Given the description of an element on the screen output the (x, y) to click on. 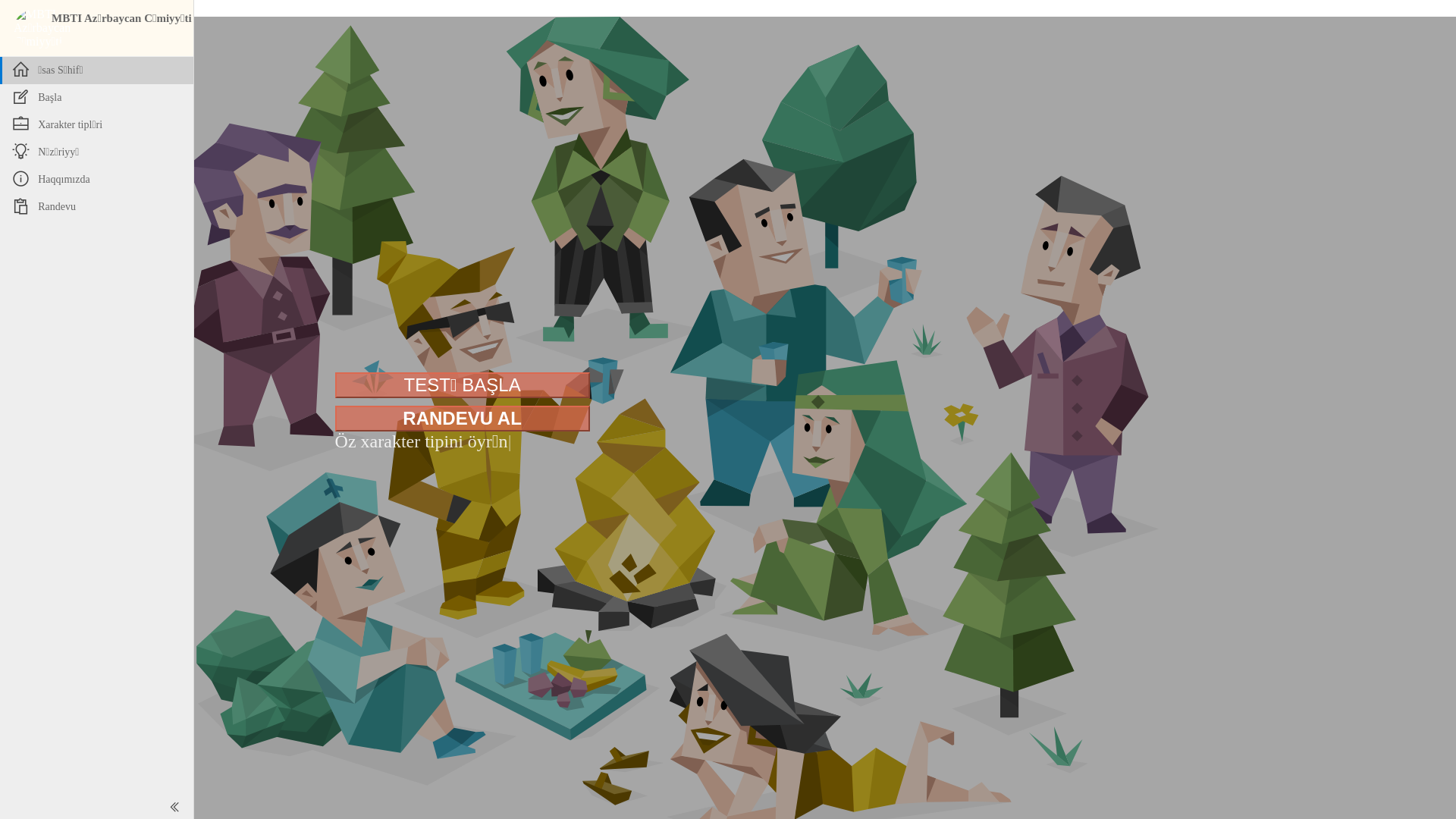
RANDEVU AL Element type: text (462, 420)
RANDEVU AL Element type: text (462, 418)
Randevu Element type: text (106, 206)
